Given the description of an element on the screen output the (x, y) to click on. 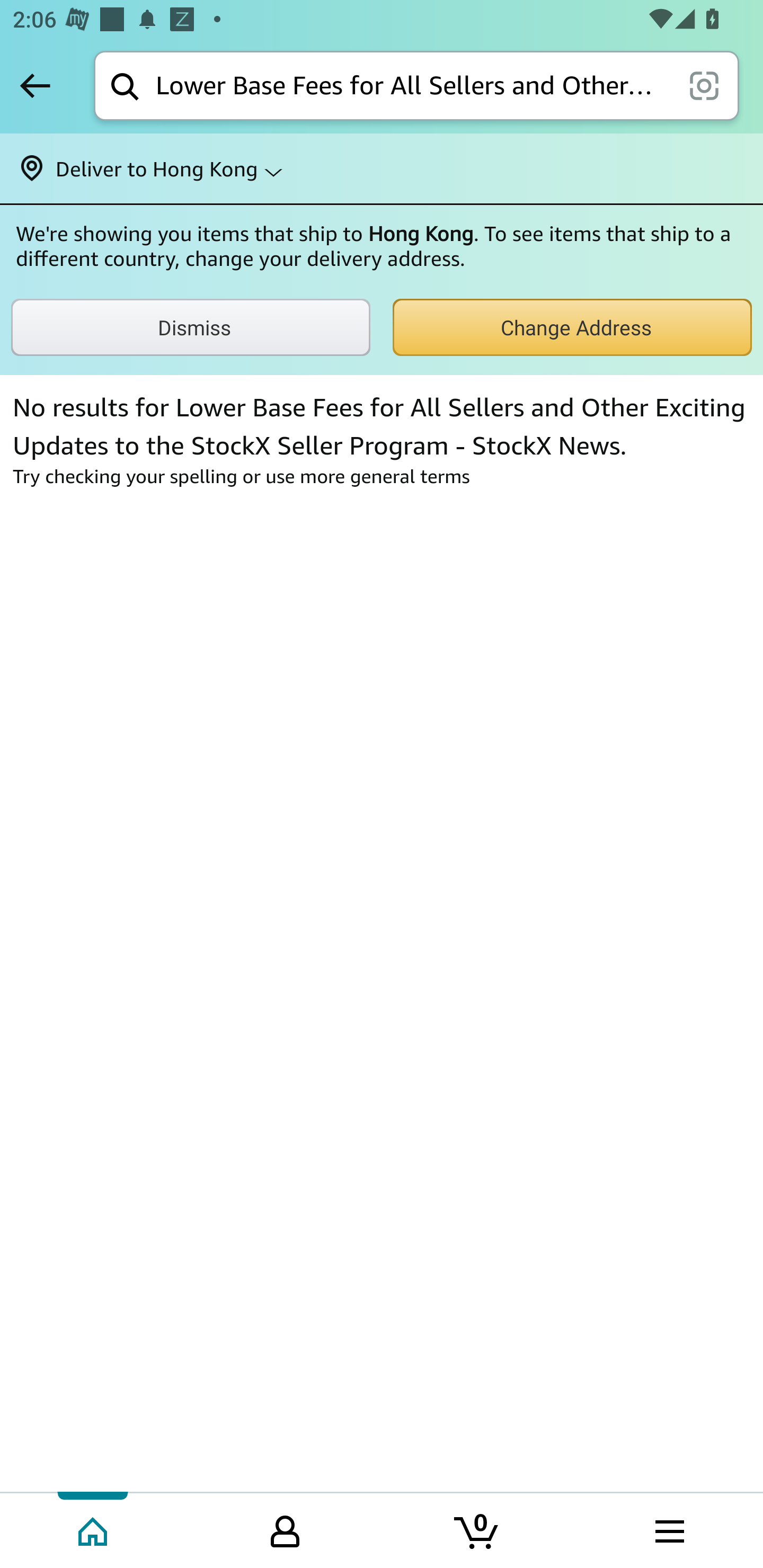
Back (35, 85)
scan it (704, 85)
Deliver to Hong Kong ⌵ (381, 168)
Dismiss (190, 327)
Change Address (571, 327)
Home Tab 1 of 4 (94, 1529)
Your Amazon.com Tab 2 of 4 (285, 1529)
Cart 0 item Tab 3 of 4 0 (477, 1529)
Browse menu Tab 4 of 4 (668, 1529)
